Given the description of an element on the screen output the (x, y) to click on. 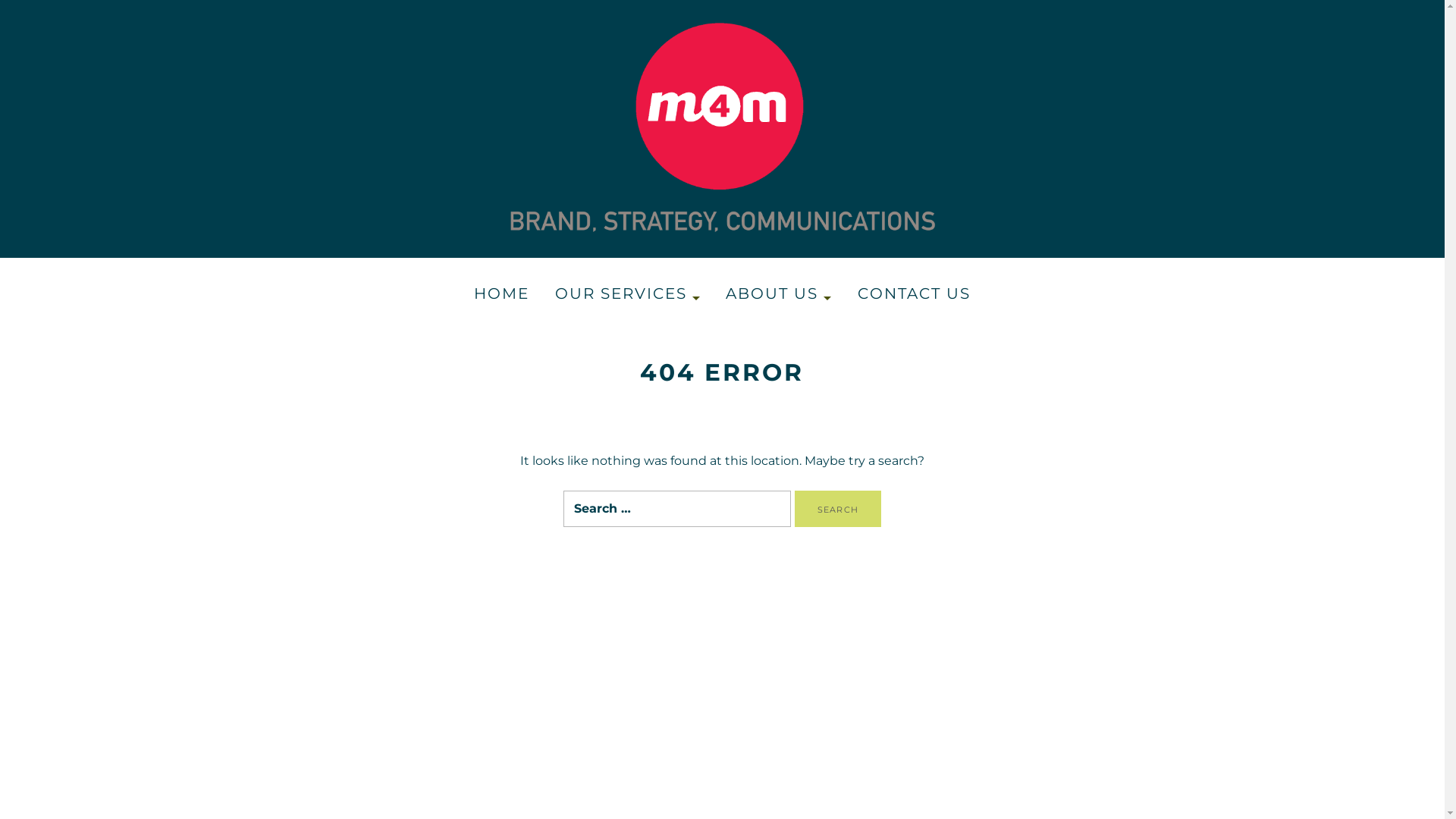
HOME Element type: text (501, 293)
EXPAND SUBMENU Element type: text (693, 297)
CONTACT US Element type: text (914, 293)
ABOUT US
EXPAND SUBMENU Element type: text (779, 293)
Search Element type: text (837, 508)
OUR SERVICES
EXPAND SUBMENU Element type: text (627, 293)
EXPAND SUBMENU Element type: text (824, 297)
